Given the description of an element on the screen output the (x, y) to click on. 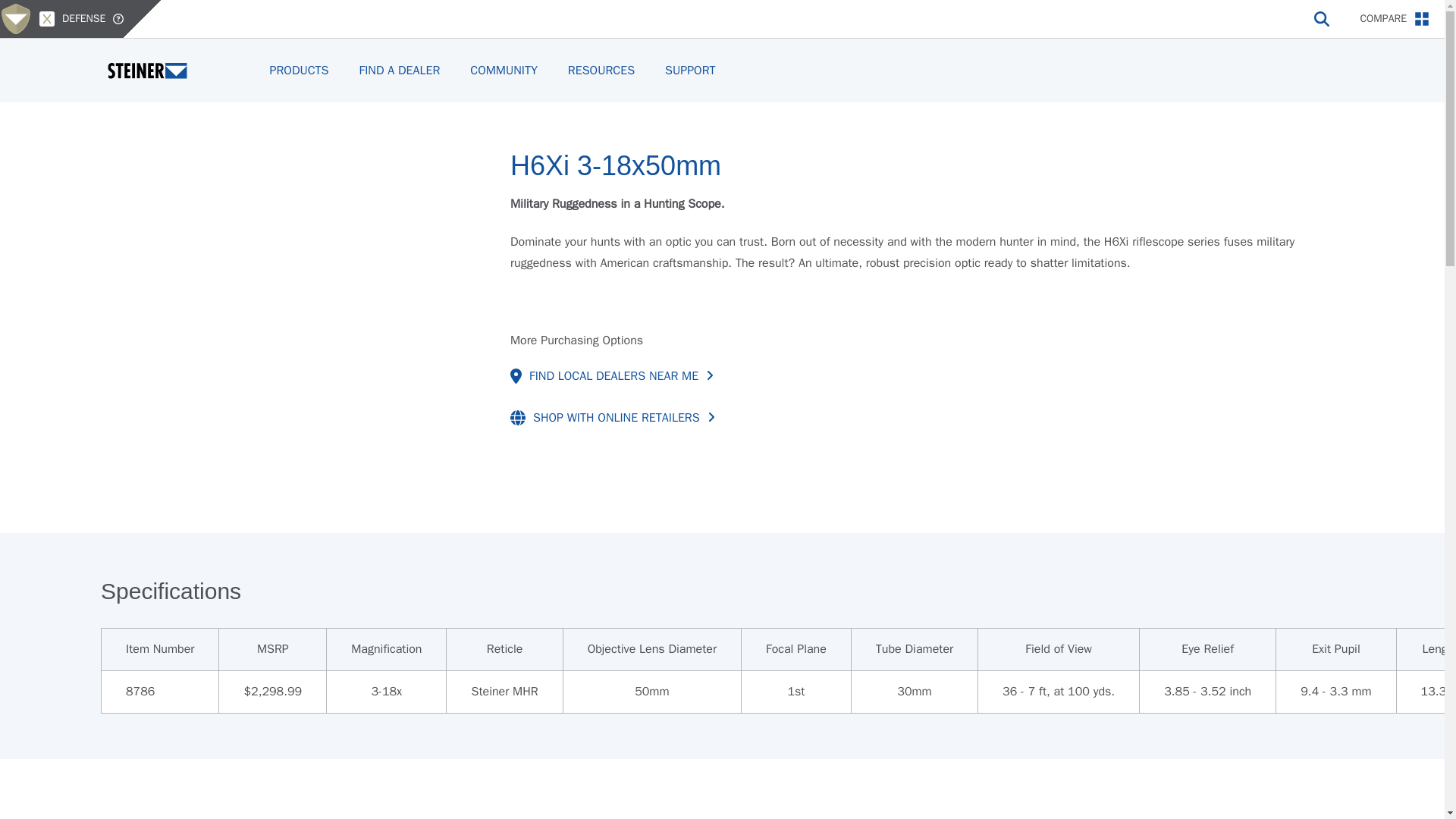
COMPARE (1394, 18)
PRODUCTS (298, 70)
